Given the description of an element on the screen output the (x, y) to click on. 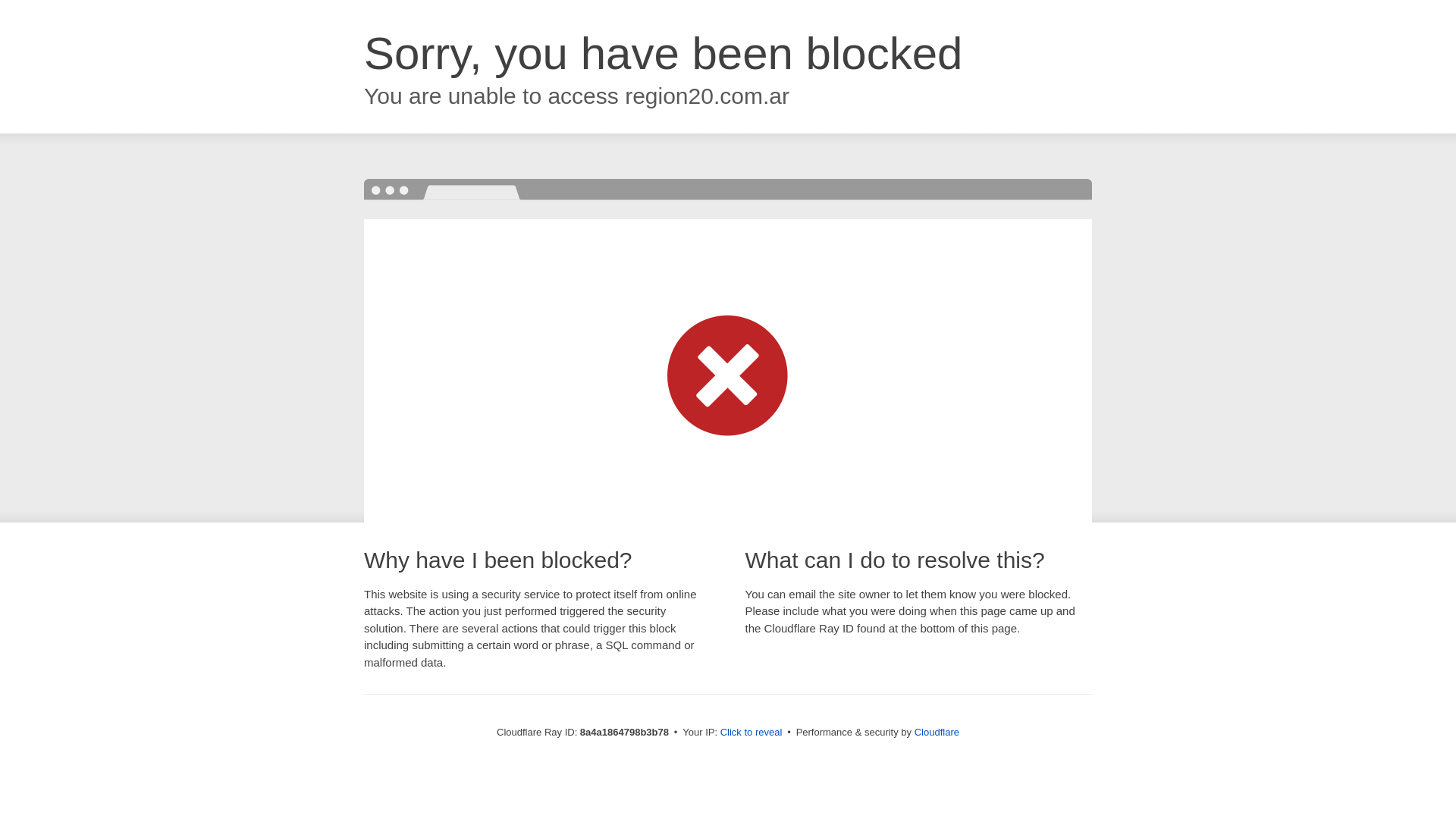
Click to reveal (751, 732)
Cloudflare (936, 731)
